Given the description of an element on the screen output the (x, y) to click on. 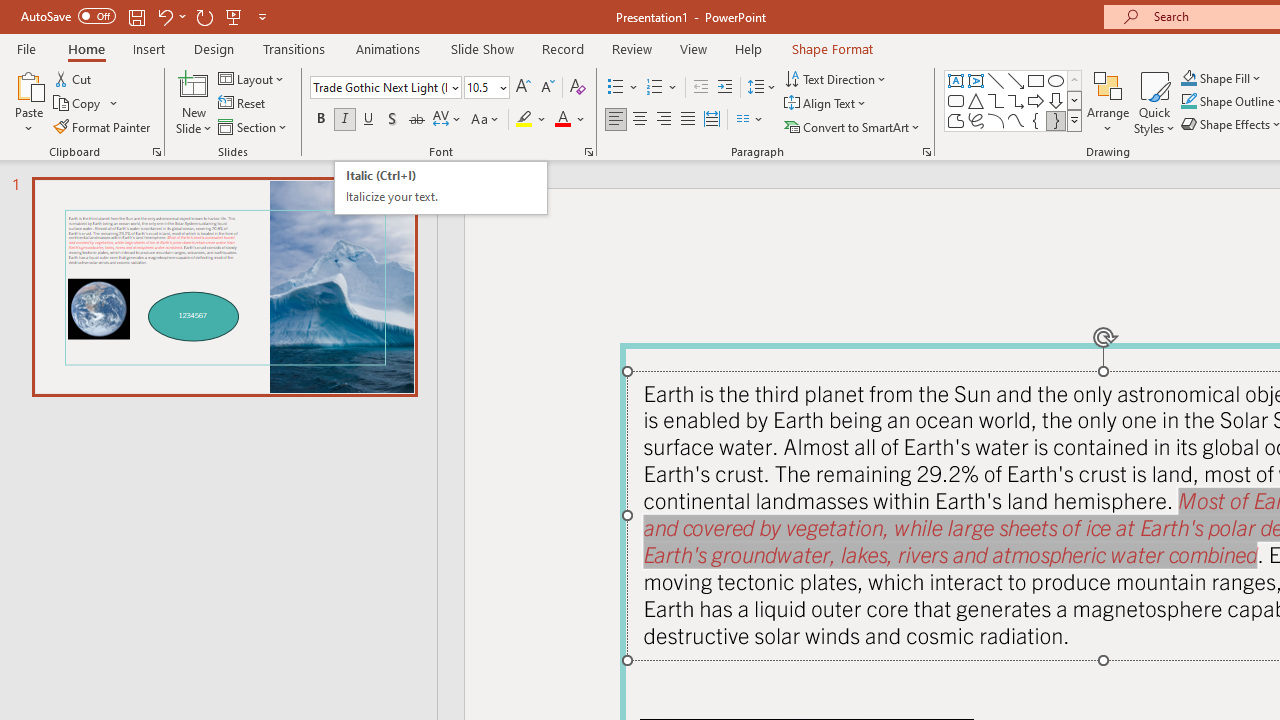
Shape Fill Aqua, Accent 2 (1188, 78)
